Given the description of an element on the screen output the (x, y) to click on. 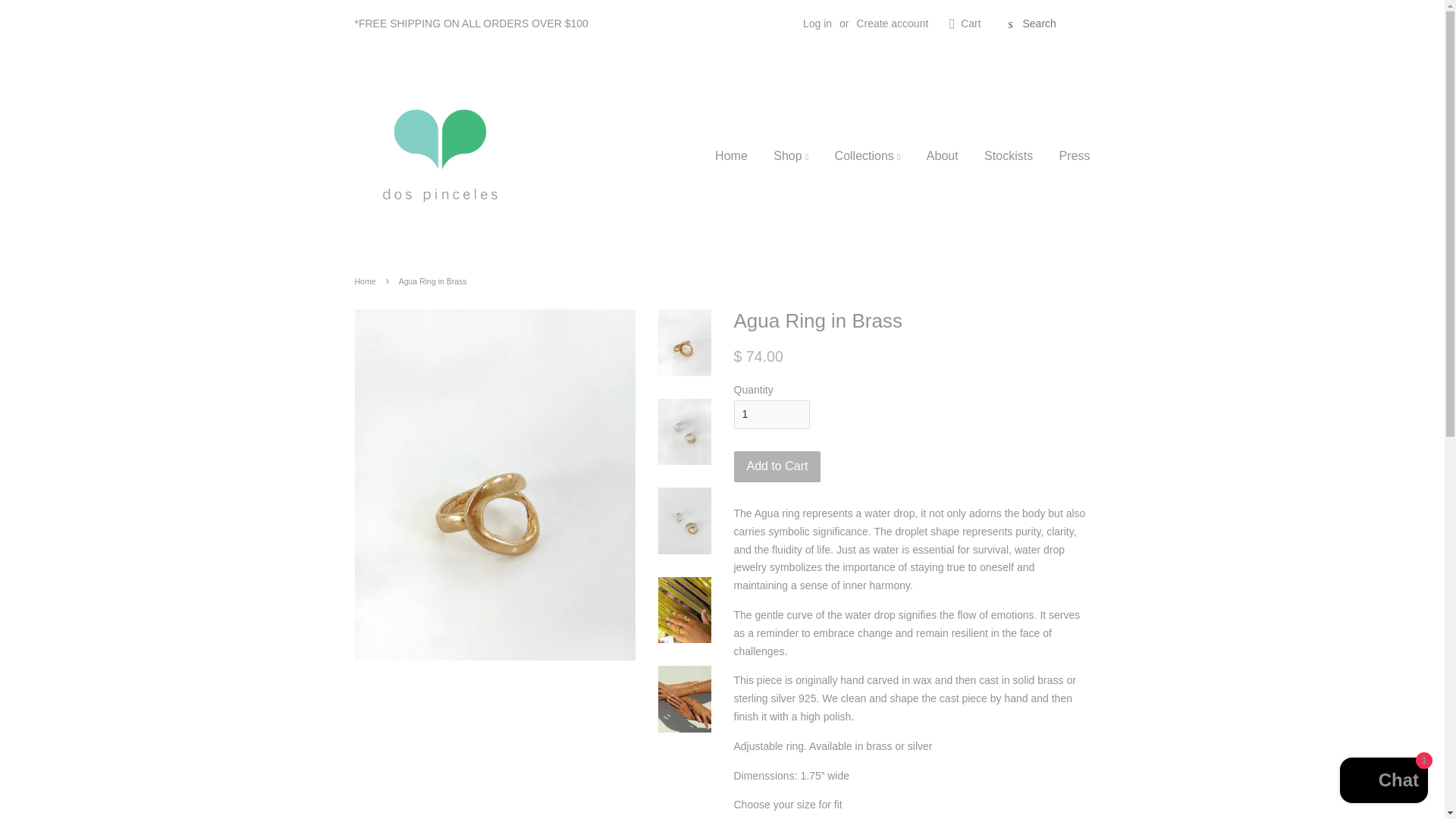
Back to the frontpage (367, 280)
Cart (969, 24)
Create account (892, 23)
Shopify online store chat (1383, 781)
1 (771, 414)
Home (736, 155)
Log in (817, 23)
Search (1010, 24)
